Given the description of an element on the screen output the (x, y) to click on. 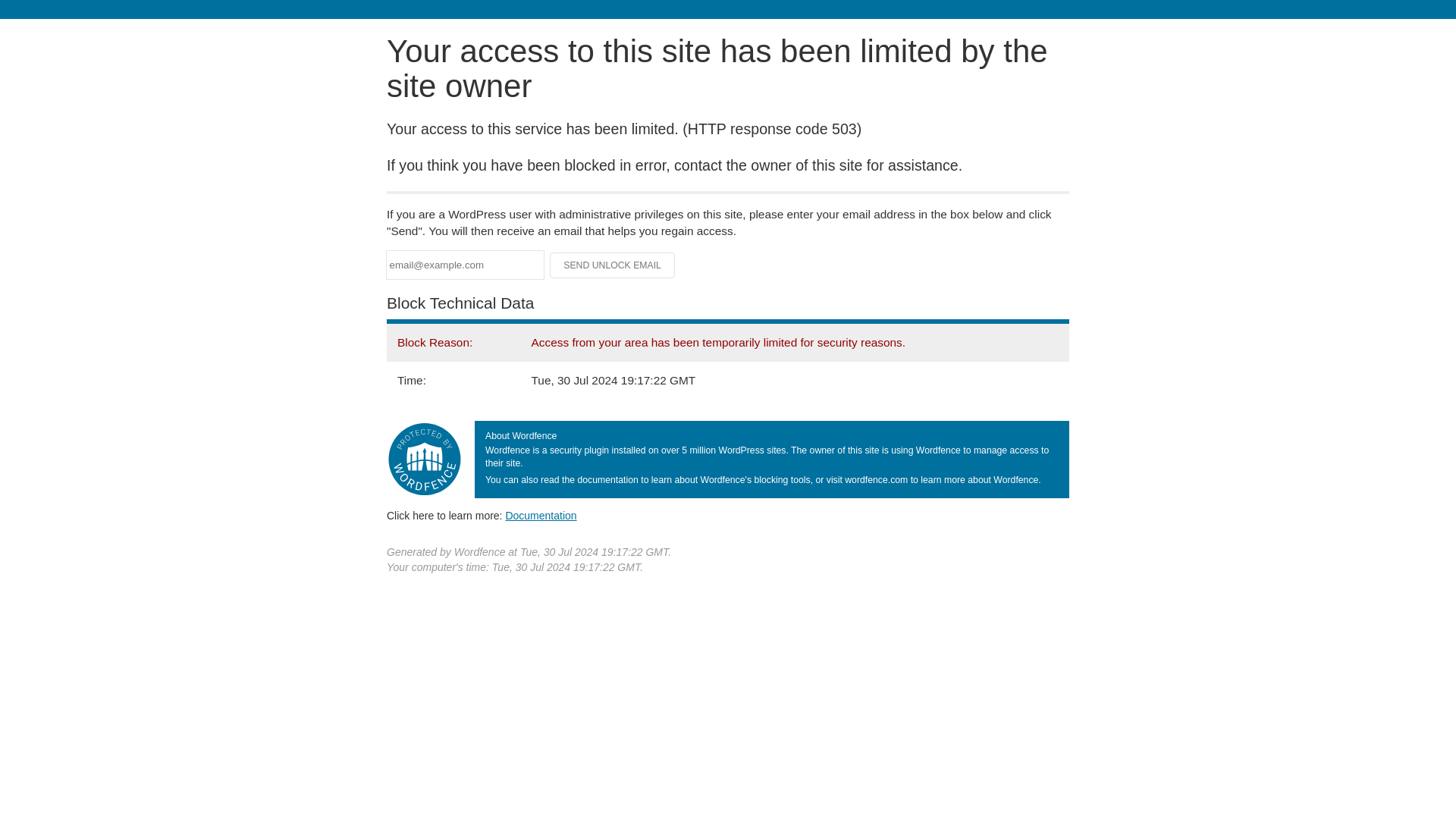
Documentation (540, 515)
Send Unlock Email (612, 265)
Send Unlock Email (612, 265)
